Given the description of an element on the screen output the (x, y) to click on. 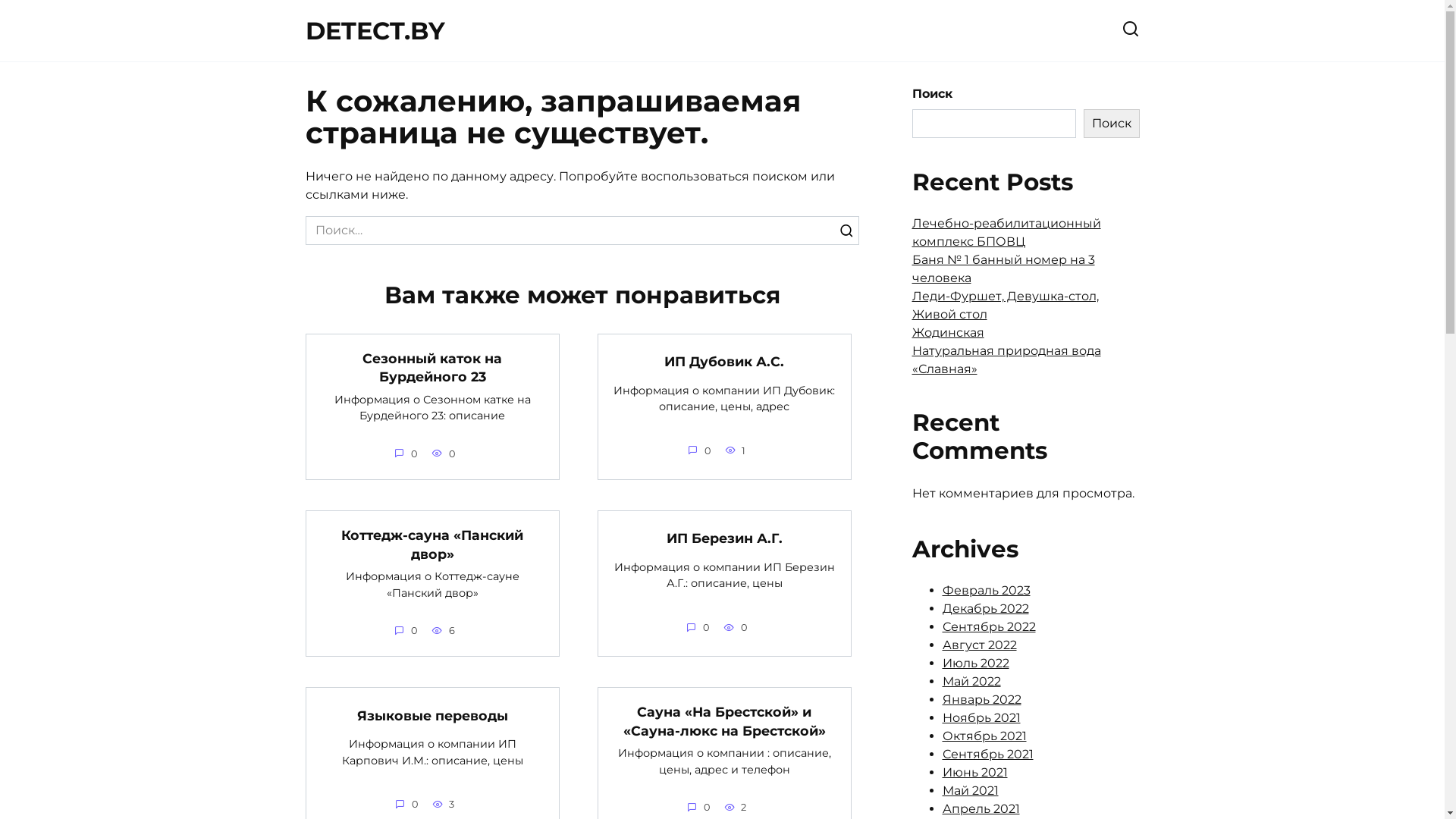
DETECT.BY Element type: text (374, 30)
